Given the description of an element on the screen output the (x, y) to click on. 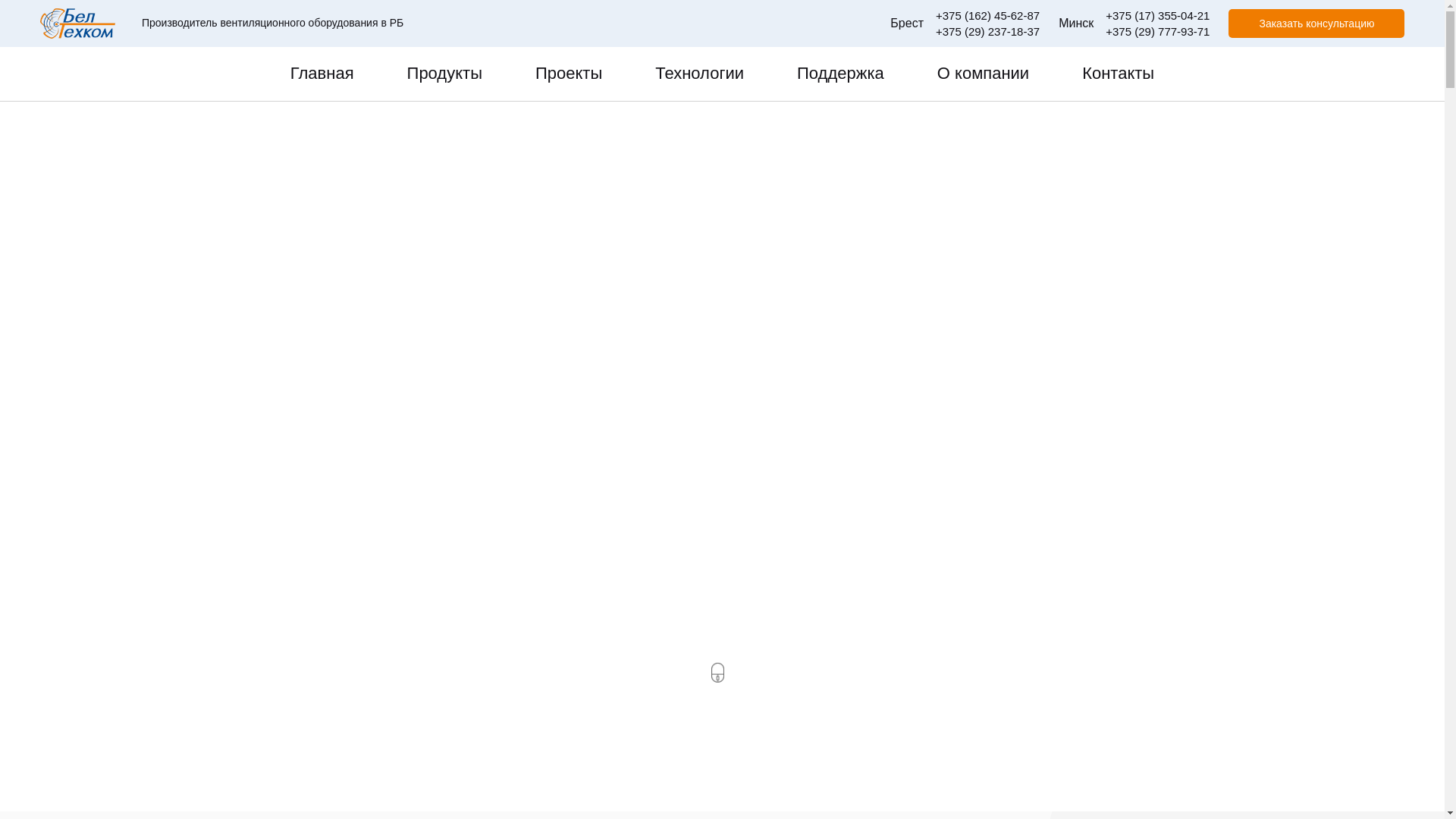
+375 (17) 355-04-21 Element type: text (1157, 15)
+375 (29) 237-18-37 Element type: text (987, 31)
+375 (29) 777-93-71 Element type: text (1157, 31)
+375 (162) 45-62-87 Element type: text (987, 15)
